Given the description of an element on the screen output the (x, y) to click on. 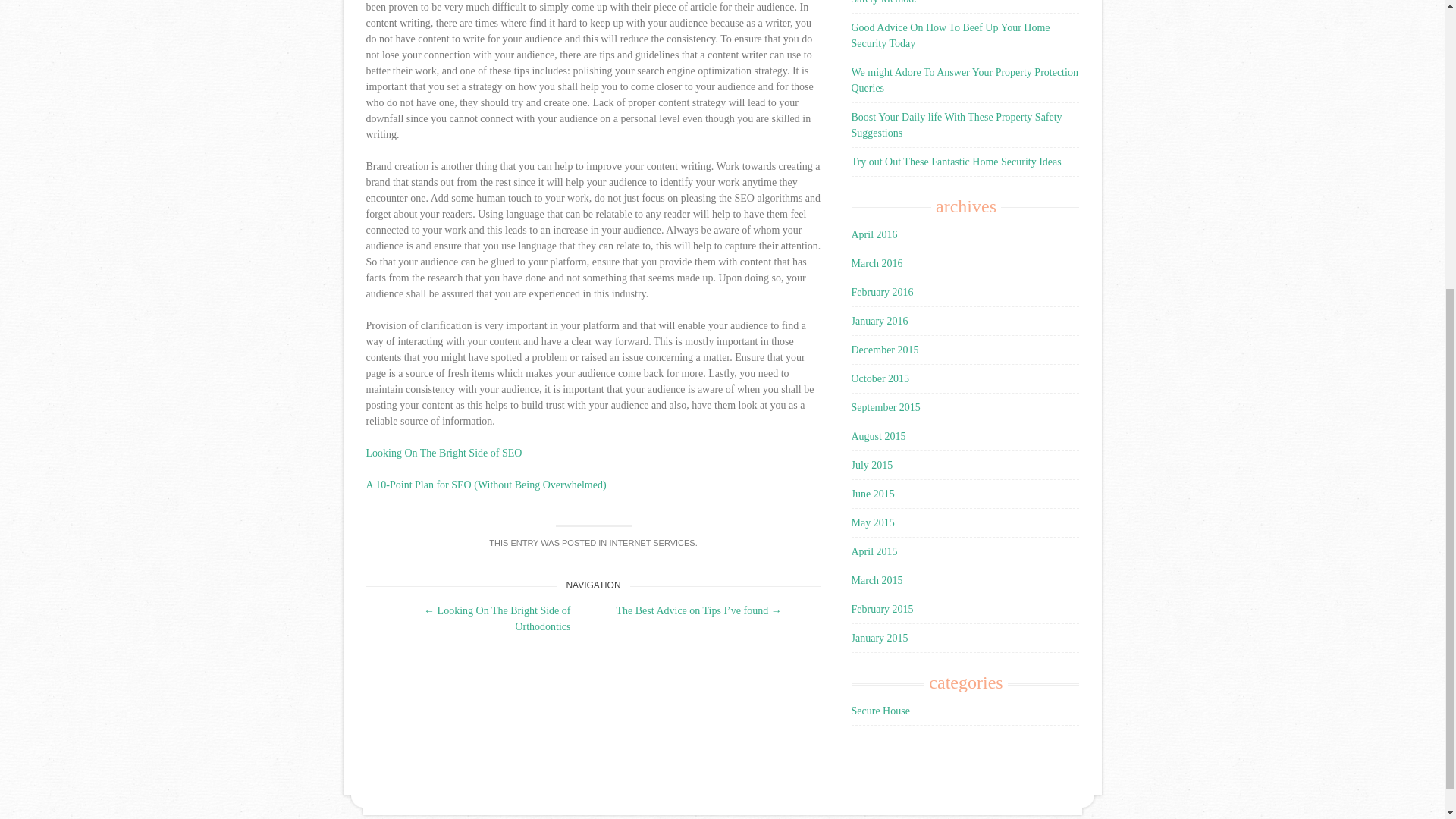
Good Advice On How To Beef Up Your Home Security Today (949, 35)
September 2015 (885, 407)
April 2016 (873, 234)
Looking On The Bright Side of SEO (443, 452)
July 2015 (871, 464)
February 2015 (881, 609)
We might Adore To Answer Your Property Protection Queries (963, 80)
April 2015 (873, 551)
Boost Your Daily life With These Property Safety Suggestions (955, 124)
August 2015 (877, 436)
January 2015 (878, 637)
March 2015 (876, 580)
Try out Out These Fantastic Home Security Ideas (955, 161)
December 2015 (884, 349)
